Given the description of an element on the screen output the (x, y) to click on. 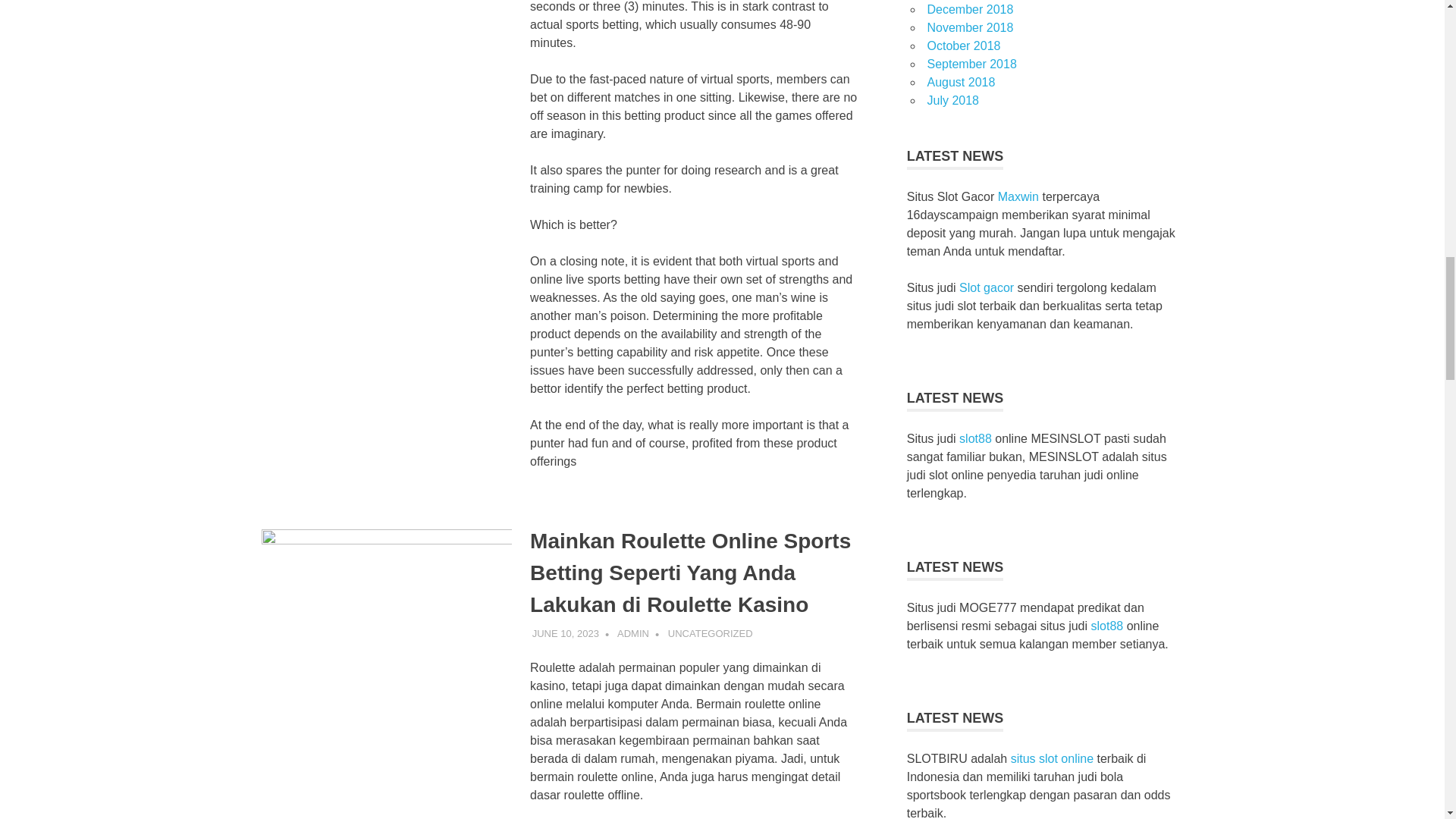
JUNE 10, 2023 (565, 633)
UNCATEGORIZED (710, 633)
View all posts by admin (633, 633)
4:37 am (565, 633)
ADMIN (633, 633)
